Given the description of an element on the screen output the (x, y) to click on. 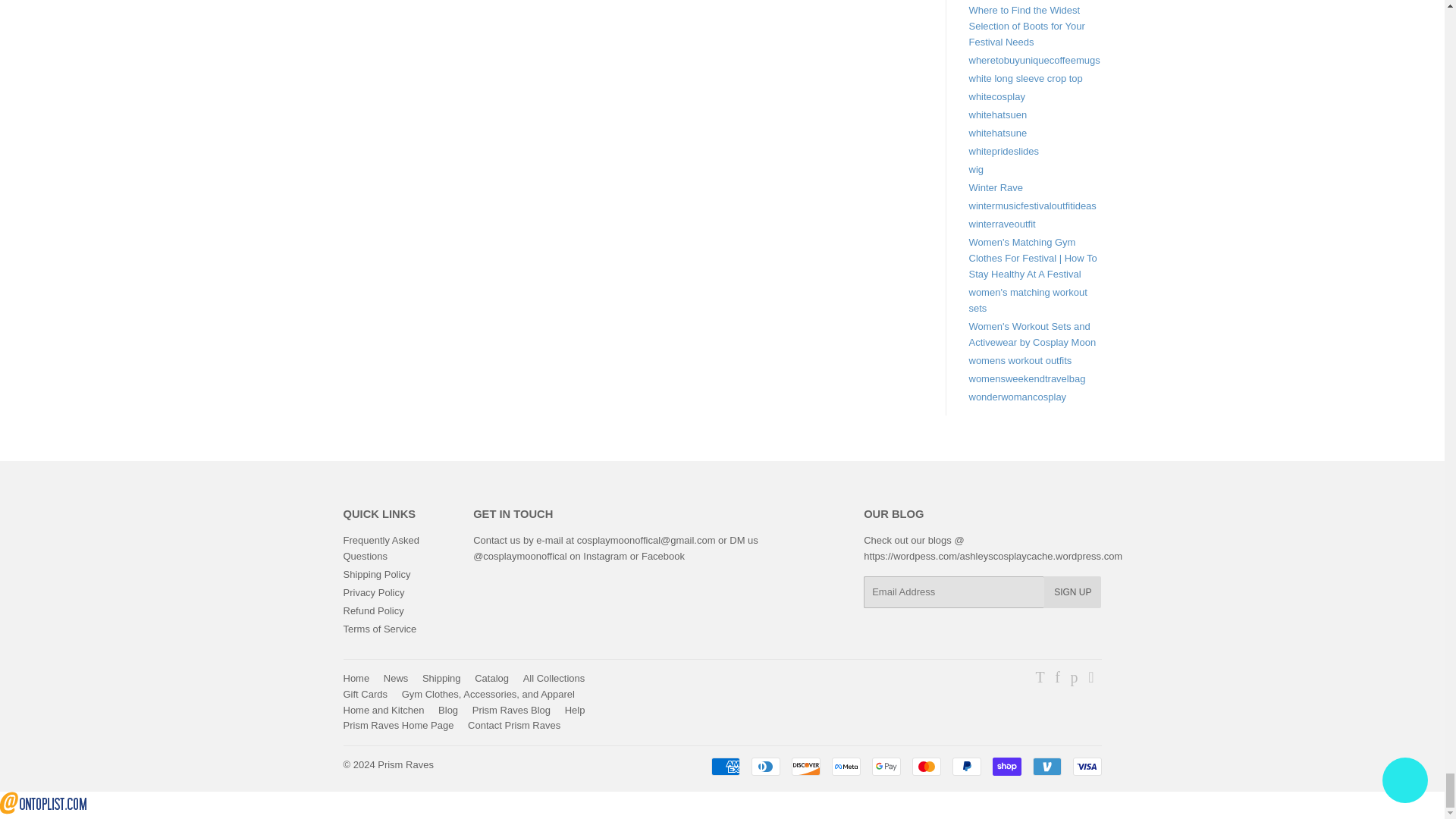
Meta Pay (845, 766)
Diners Club (764, 766)
Google Pay (886, 766)
Visa (1085, 766)
Shop Pay (1005, 766)
Venmo (1046, 766)
Discover (806, 766)
Mastercard (925, 766)
American Express (725, 766)
PayPal (966, 766)
